Given the description of an element on the screen output the (x, y) to click on. 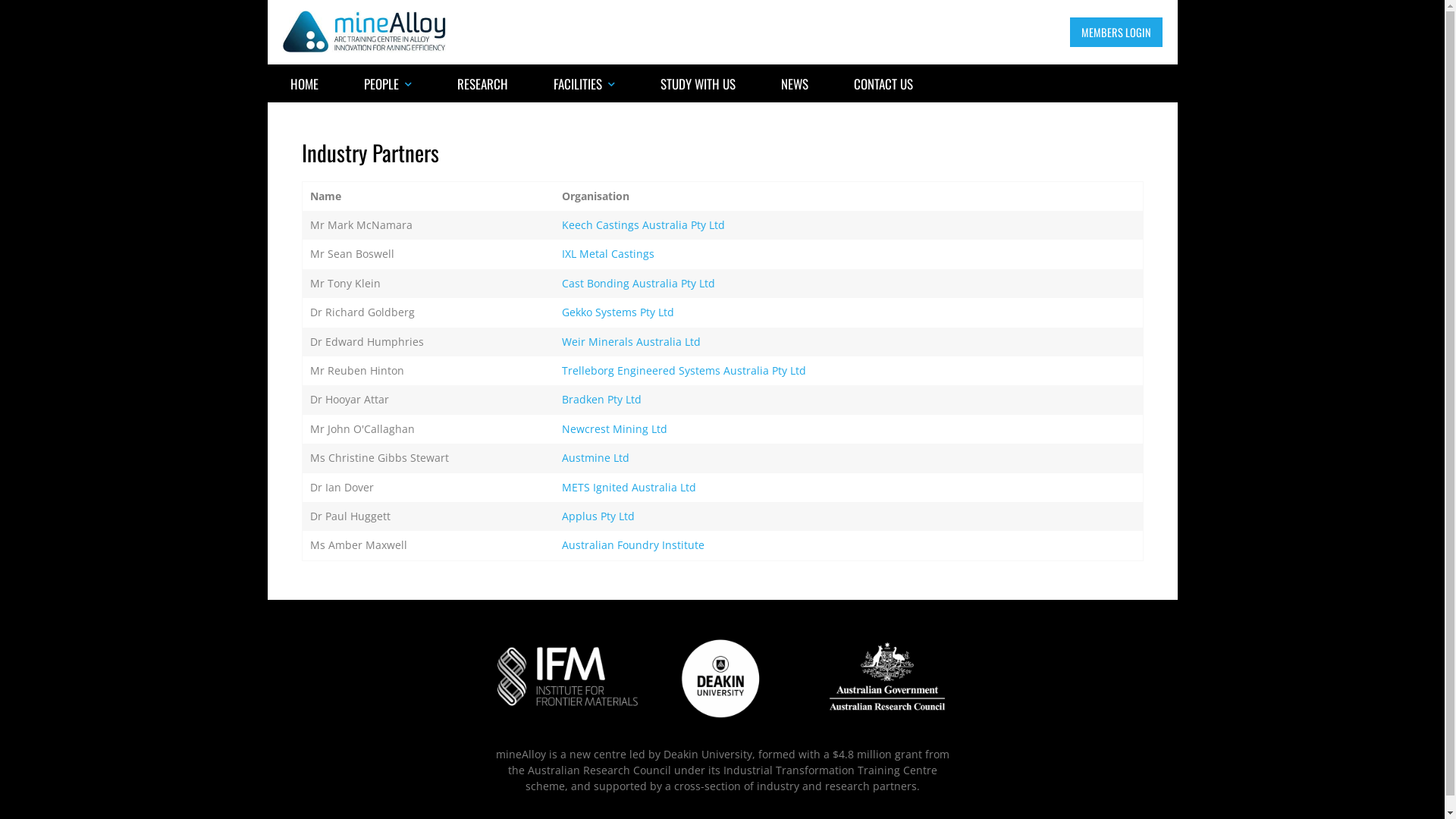
Gekko Systems Pty Ltd Element type: text (617, 311)
PEOPLE Element type: text (387, 83)
Trelleborg Engineered Systems Australia Pty Ltd Element type: text (683, 370)
Cast Bonding Australia Pty Ltd Element type: text (638, 283)
Australian Foundry Institute Element type: text (632, 544)
Bradken Pty Ltd Element type: text (601, 399)
METS Ignited Australia Ltd Element type: text (628, 487)
Keech Castings Australia Pty Ltd Element type: text (642, 224)
CONTACT US Element type: text (883, 83)
Applus Pty Ltd Element type: text (597, 515)
RESEARCH Element type: text (481, 83)
Newcrest Mining Ltd Element type: text (614, 428)
FACILITIES Element type: text (583, 83)
MEMBERS LOGIN Element type: text (1115, 31)
IXL Metal Castings Element type: text (607, 253)
NEWS Element type: text (794, 83)
HOME Element type: text (303, 83)
Weir Minerals Australia Ltd Element type: text (630, 341)
Austmine Ltd Element type: text (595, 457)
STUDY WITH US Element type: text (697, 83)
